Given the description of an element on the screen output the (x, y) to click on. 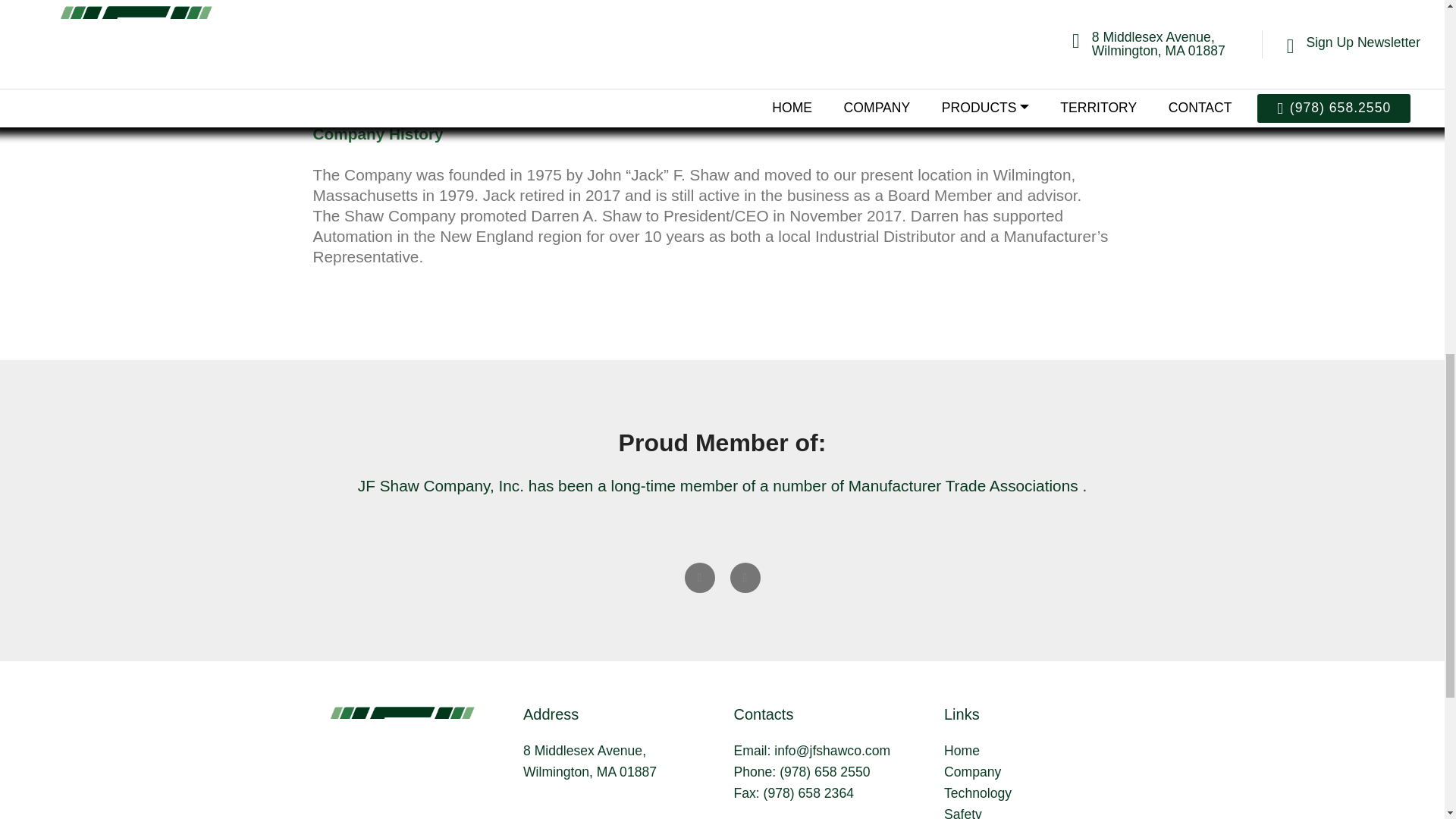
Company (972, 771)
Technology (977, 792)
Previous (699, 577)
Next (744, 577)
Home (961, 750)
Safety (962, 812)
